Given the description of an element on the screen output the (x, y) to click on. 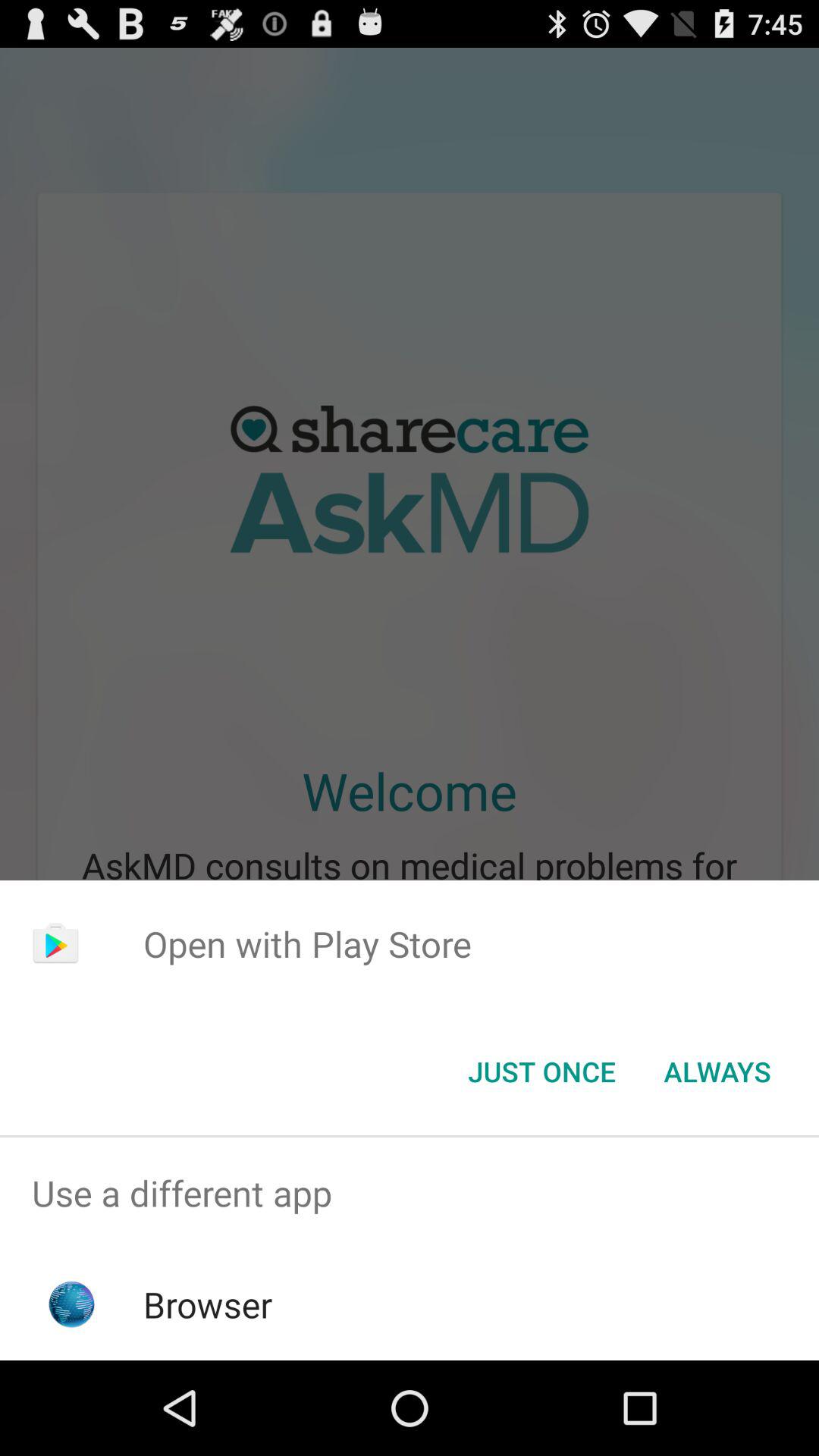
jump until the just once item (541, 1071)
